Given the description of an element on the screen output the (x, y) to click on. 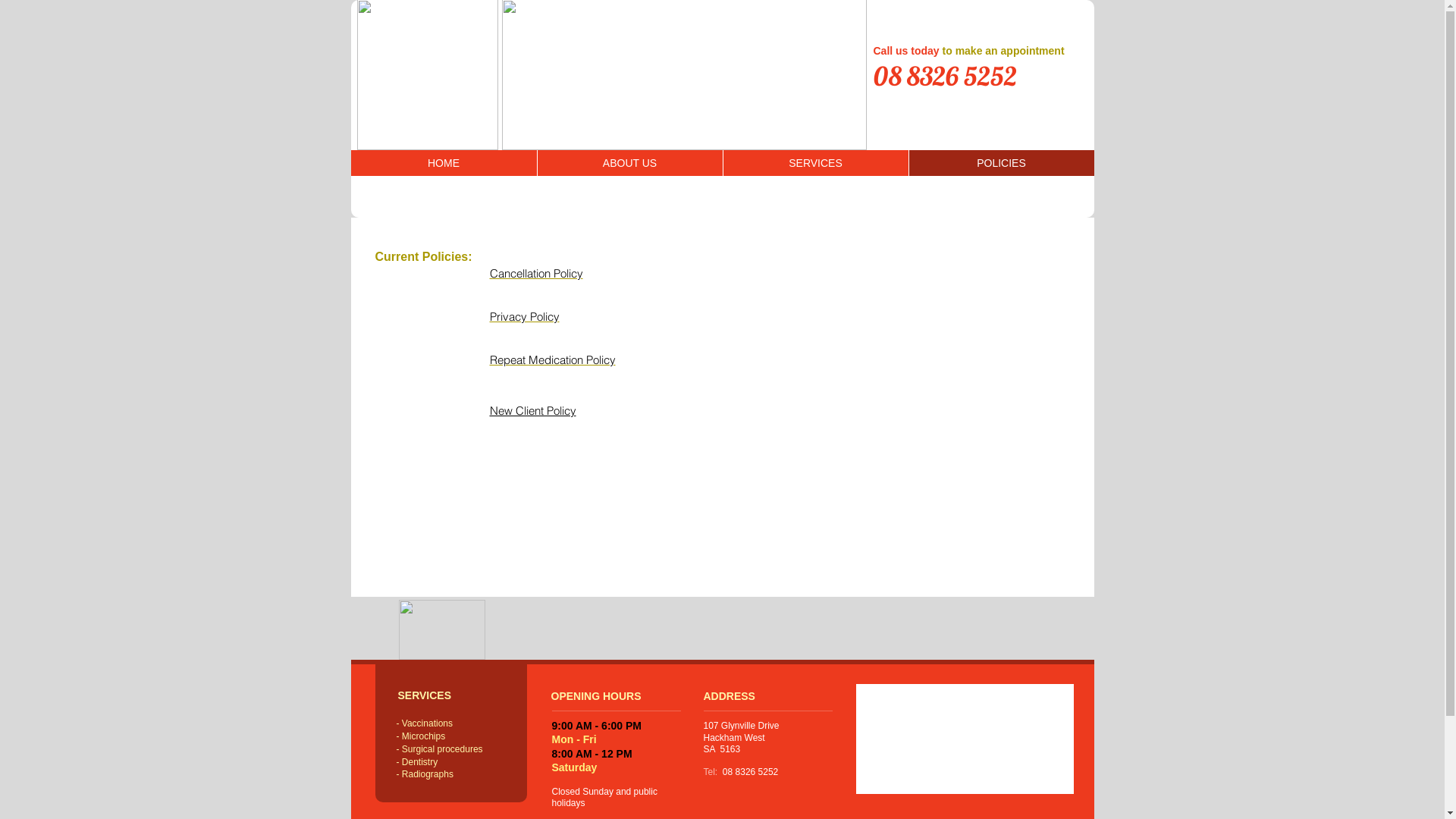
Google Maps Element type: hover (964, 738)
Privacy Policy Element type: text (524, 316)
HOME Element type: text (443, 162)
POLICIES Element type: text (1001, 162)
New Client Policy Element type: text (532, 410)
SERVICES Element type: text (814, 162)
Cancellation Policy Element type: text (536, 272)
Repeat Medication Policy Element type: text (552, 359)
ABOUT US Element type: text (629, 162)
